Given the description of an element on the screen output the (x, y) to click on. 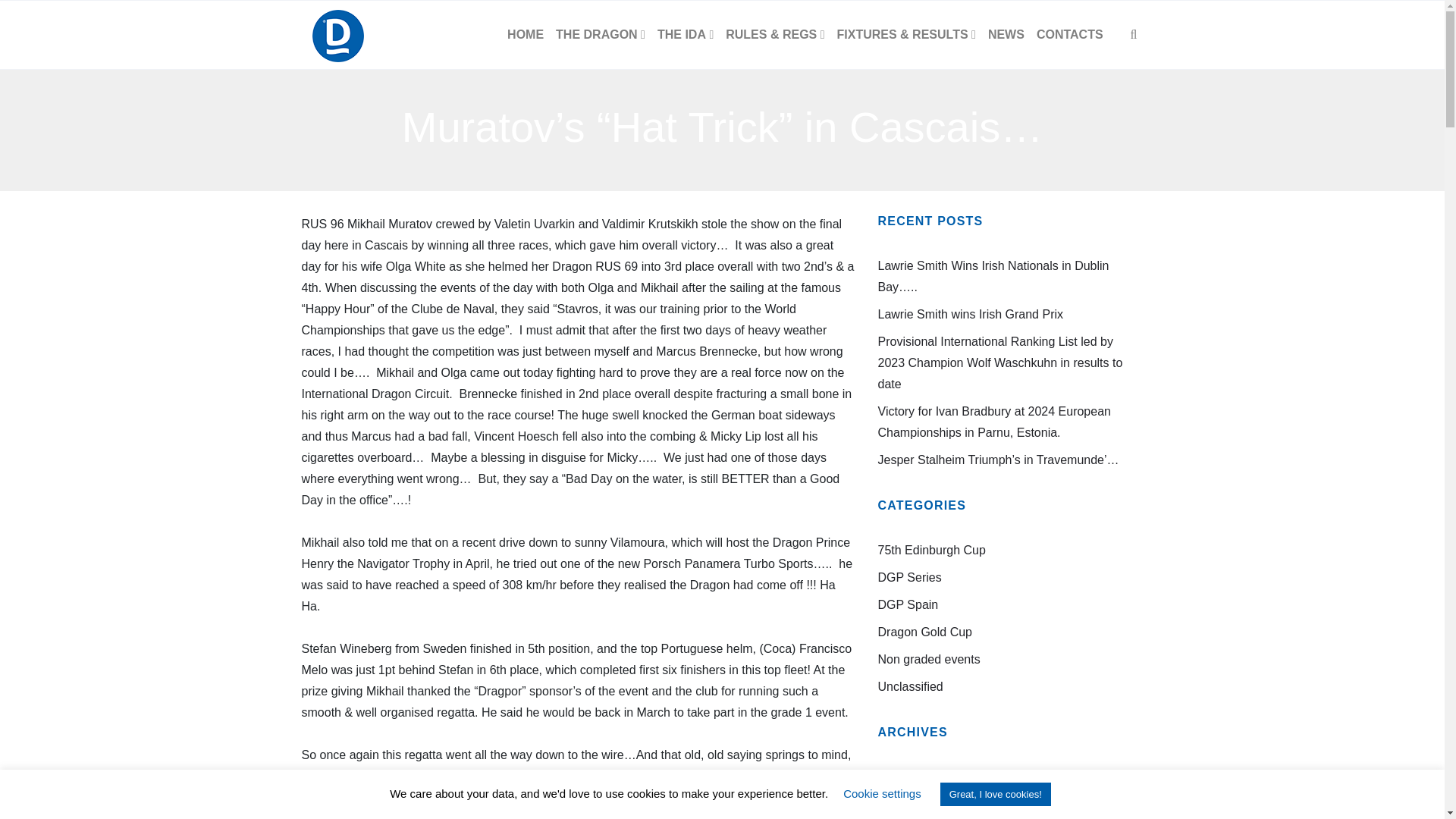
The Dragon (600, 34)
THE DRAGON (600, 34)
THE IDA (684, 34)
The IDA (684, 34)
CONTACTS (1069, 34)
International Dragon Association (337, 34)
